Given the description of an element on the screen output the (x, y) to click on. 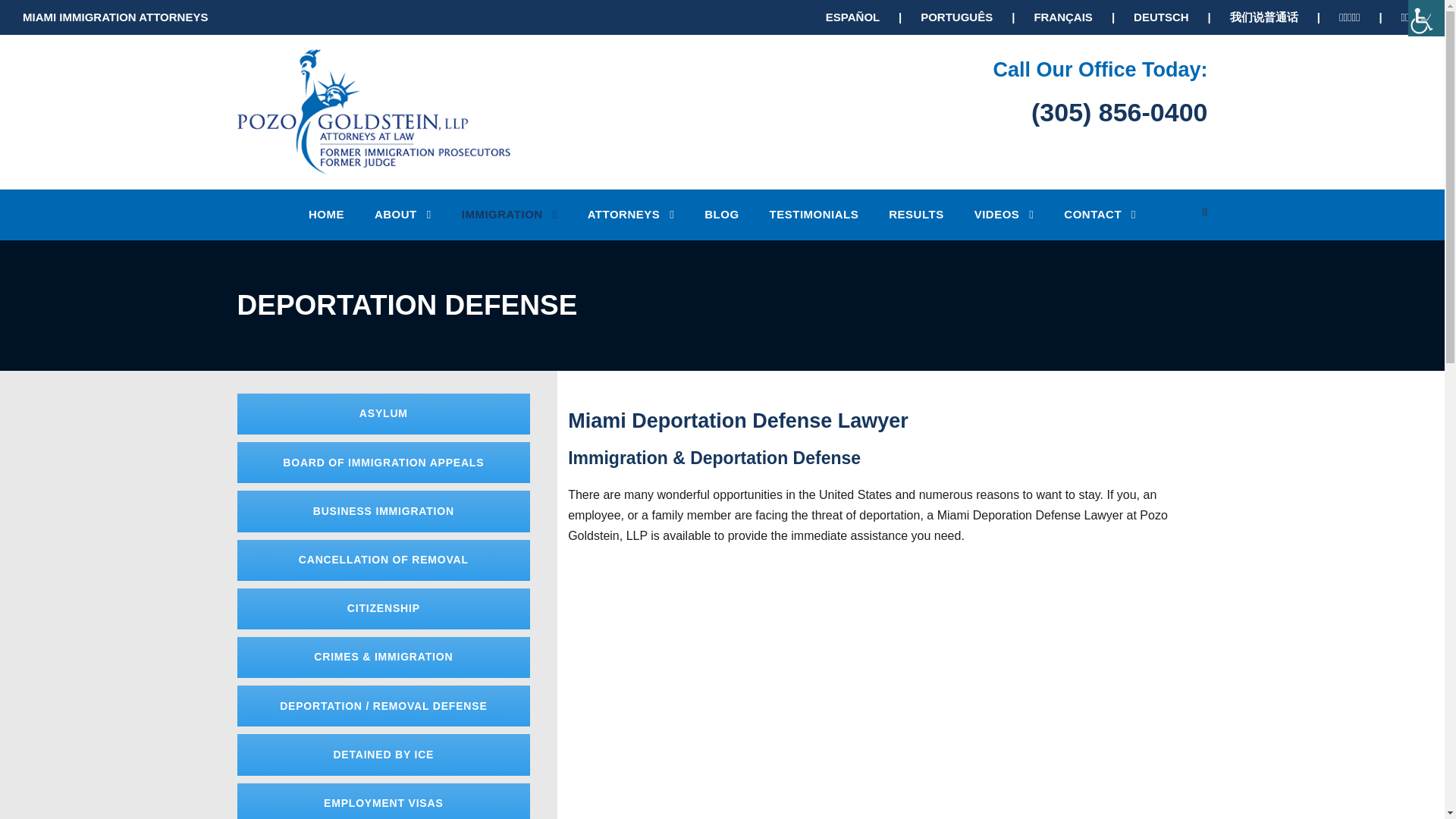
logo (372, 111)
